Given the description of an element on the screen output the (x, y) to click on. 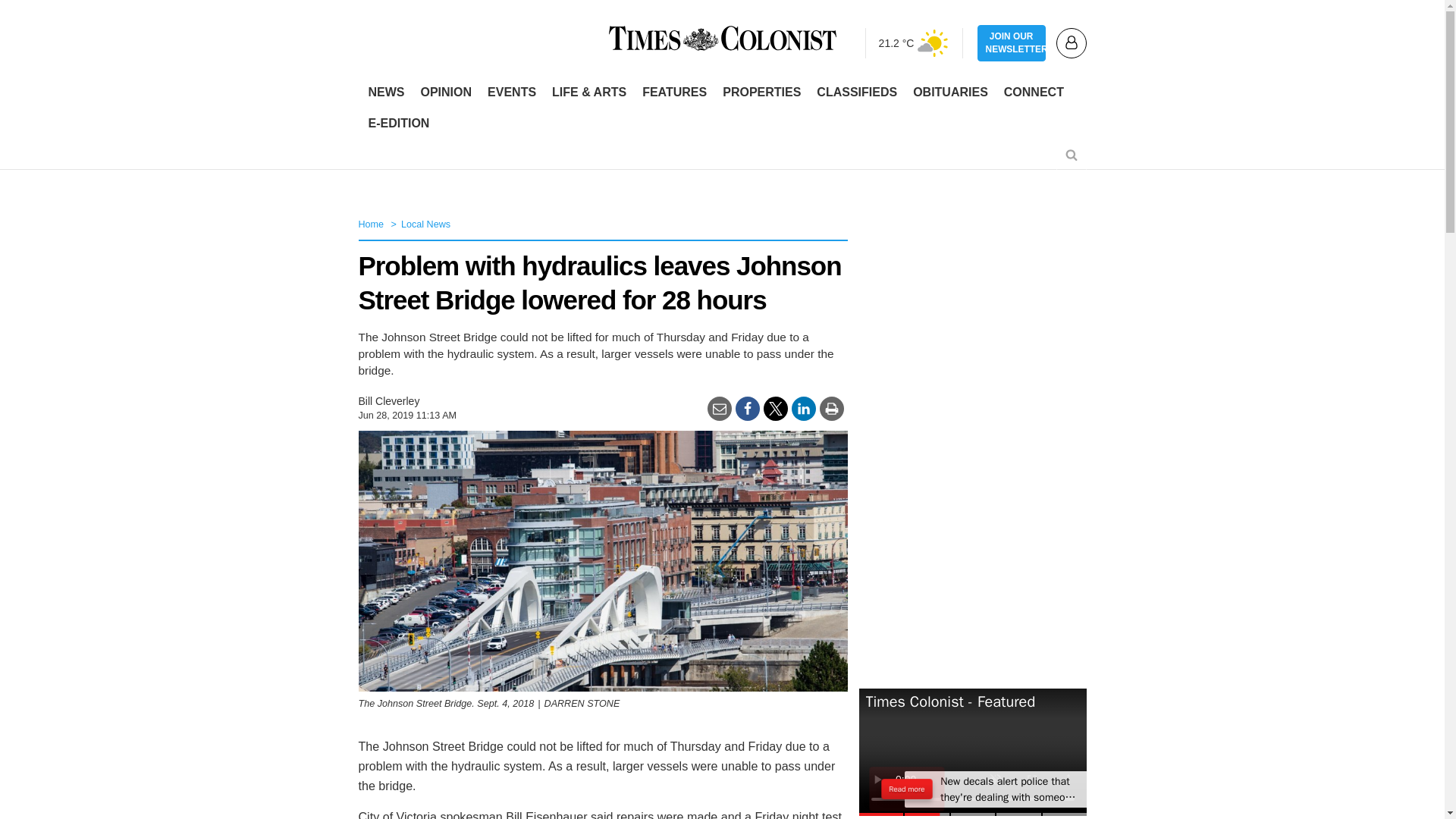
NEWS (386, 92)
JOIN OUR NEWSLETTER (1010, 43)
3rd party ad content (721, 157)
EVENTS (511, 92)
OPINION (445, 92)
